Given the description of an element on the screen output the (x, y) to click on. 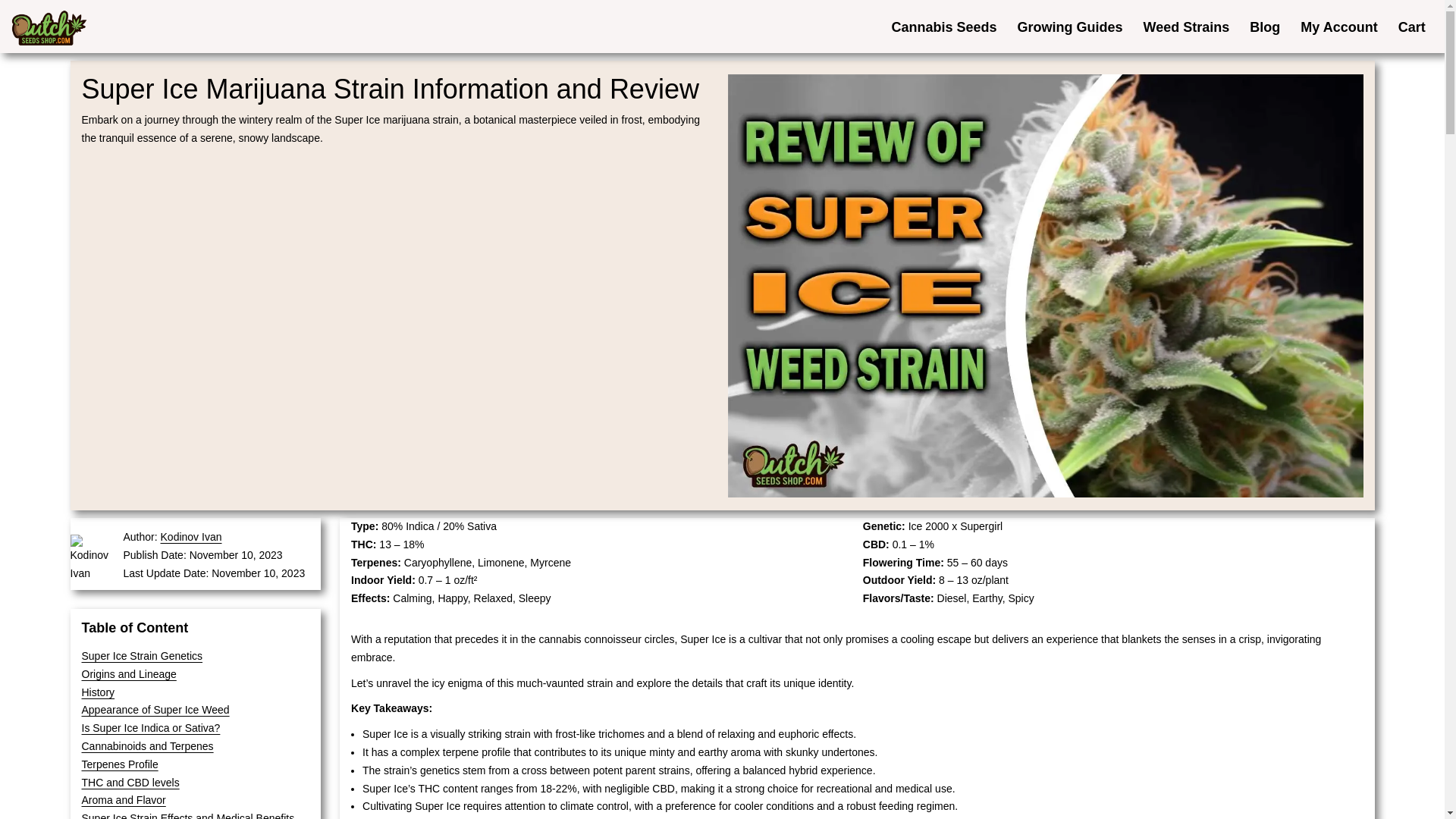
Cannabis Seeds (943, 26)
My Account (1338, 26)
Super Ice Strain Genetics (142, 655)
Growing Guides (1069, 26)
Blog (1265, 26)
Cart (1411, 26)
Appearance of Super Ice Weed (155, 709)
Kodinov Ivan (191, 536)
Origins and Lineage (128, 674)
History (98, 692)
Weed Strains (1186, 26)
